Given the description of an element on the screen output the (x, y) to click on. 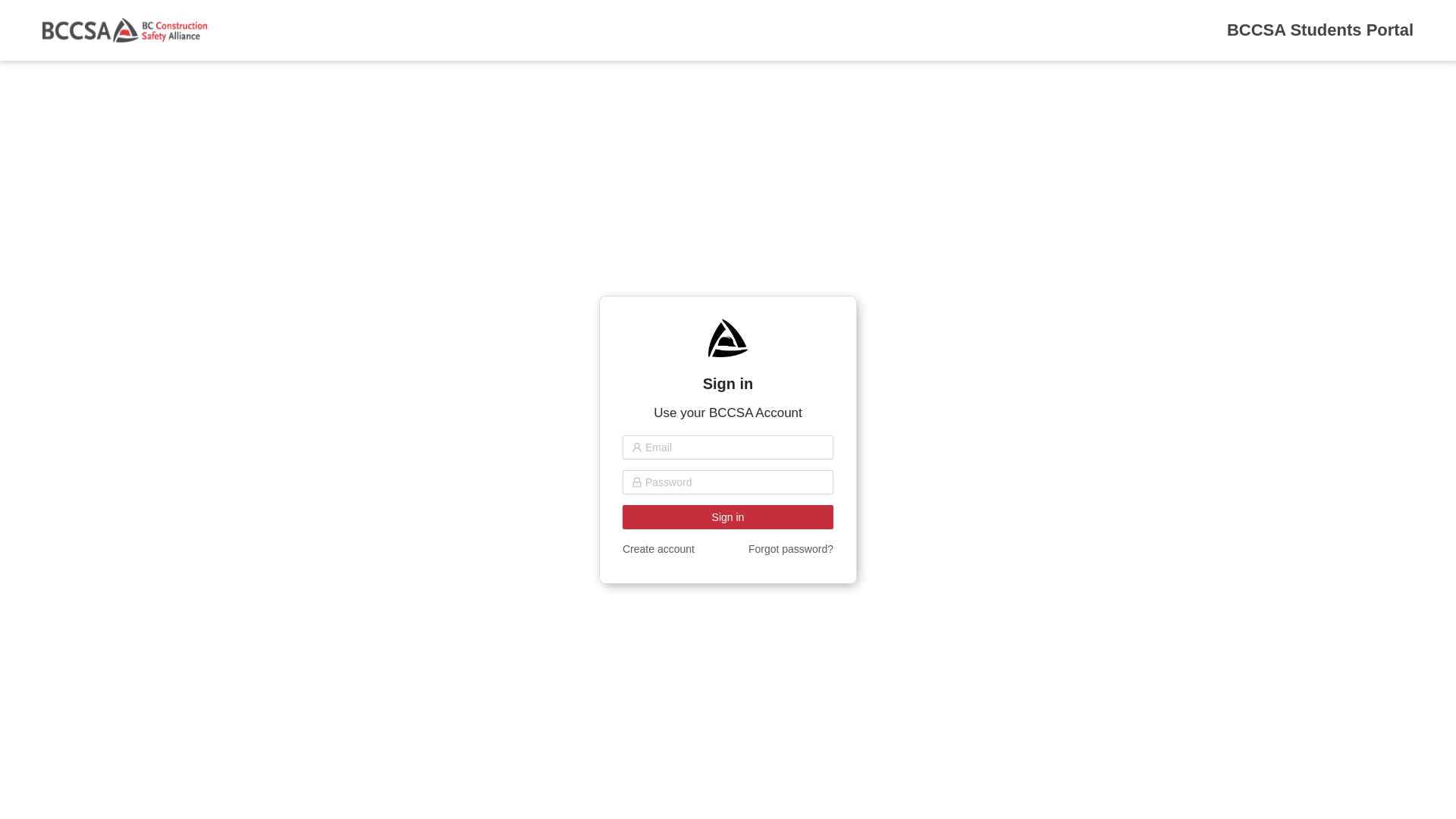
Sign in Element type: text (727, 517)
Create account Element type: text (658, 548)
Forgot password? Element type: text (790, 548)
